Given the description of an element on the screen output the (x, y) to click on. 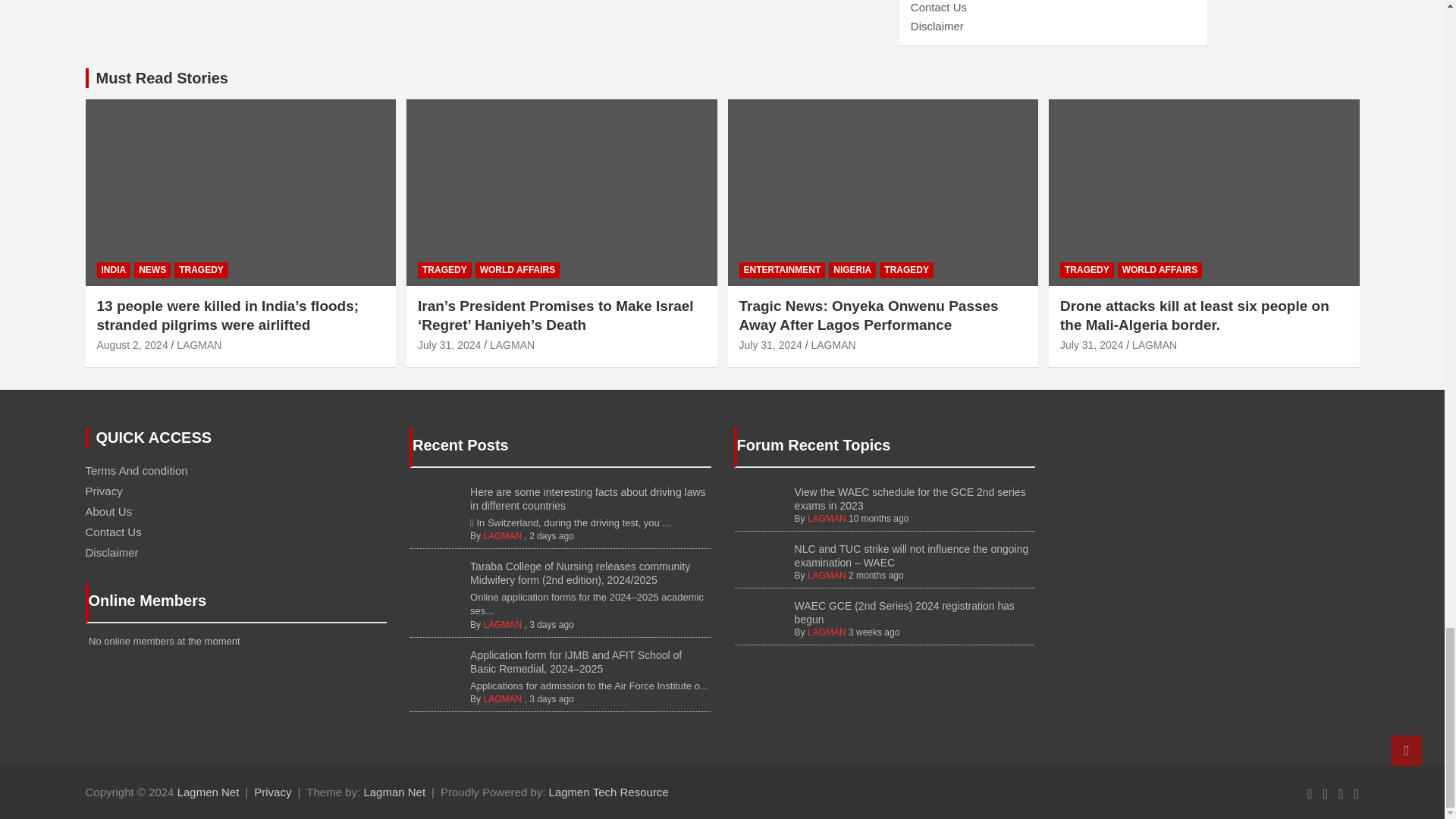
LAGMAN (502, 624)
LAGMAN (502, 535)
